Given the description of an element on the screen output the (x, y) to click on. 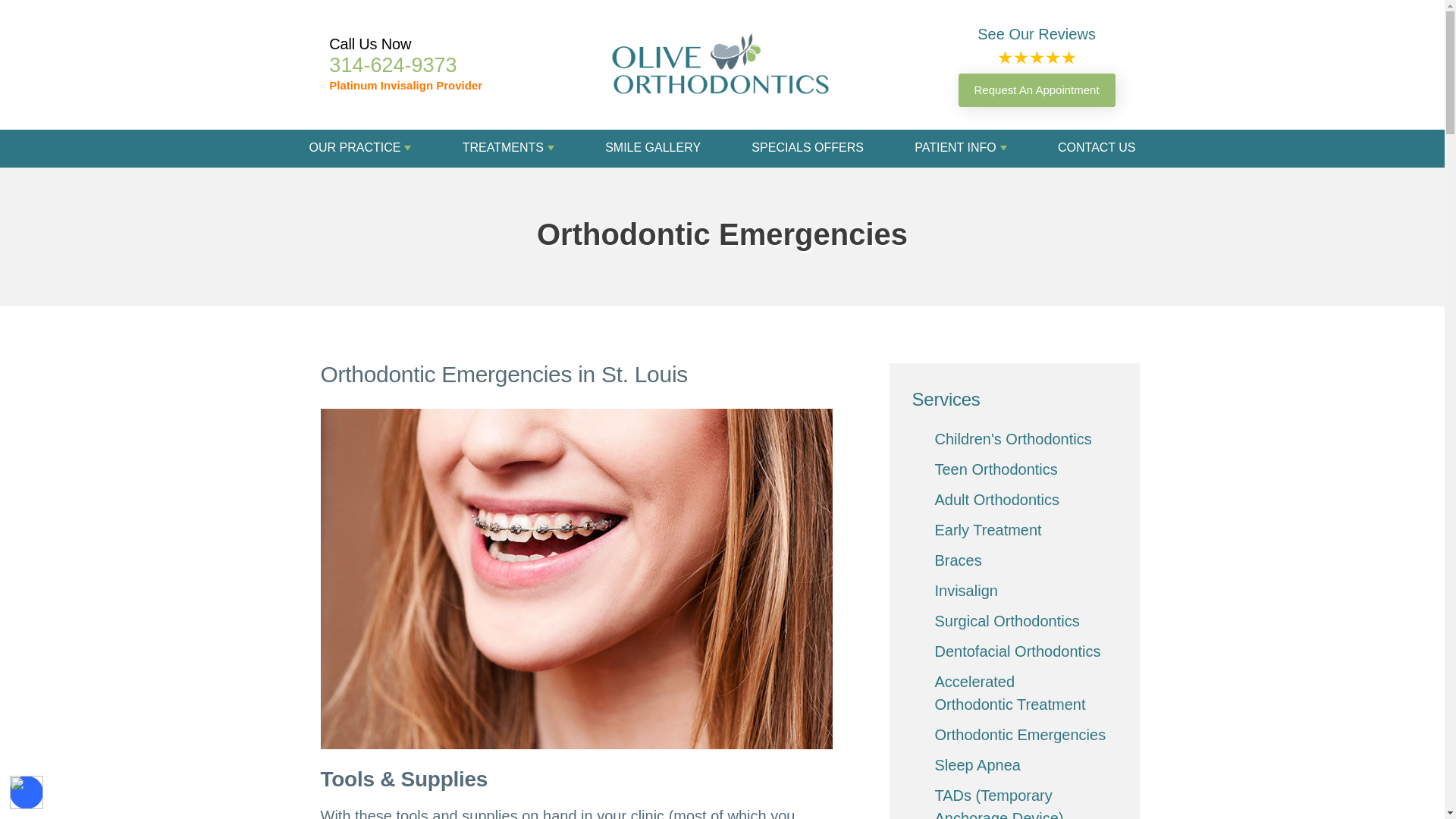
Platinum Invisalign Provider (405, 84)
CONTACT US (1096, 147)
SPECIALS OFFERS (807, 147)
Accessibility Menu (26, 792)
Request An Appointment (1036, 89)
See Our Reviews (1036, 33)
SMILE GALLERY (652, 147)
TREATMENTS (508, 147)
PATIENT INFO (960, 147)
314-624-9373 (393, 65)
OUR PRACTICE (360, 147)
